Given the description of an element on the screen output the (x, y) to click on. 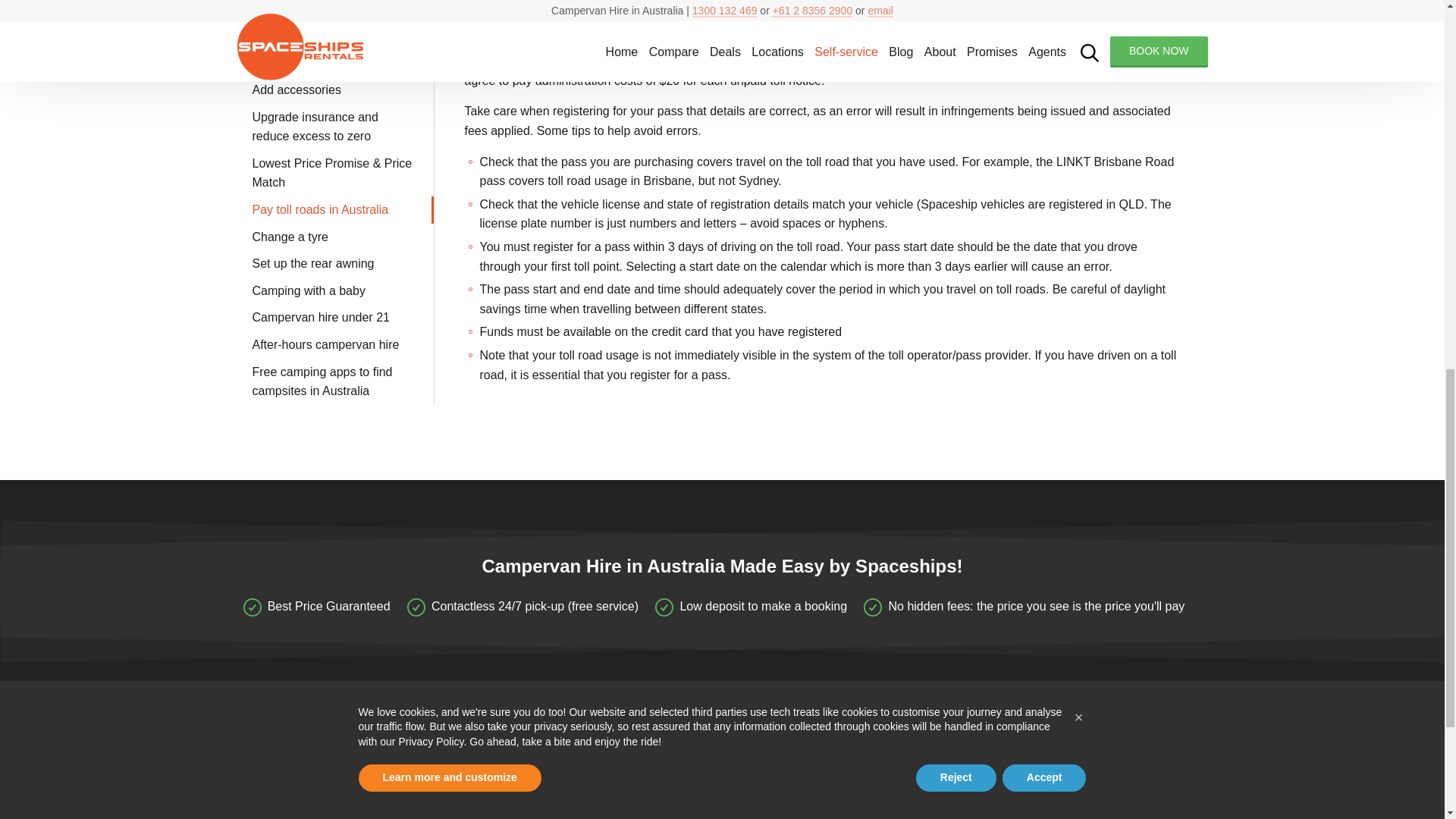
How to get things done on your road trip (566, 797)
Get a Bargain on Amazing Activities in Australia (548, 813)
Contact the Spaceships Australia team via email (299, 763)
